Given the description of an element on the screen output the (x, y) to click on. 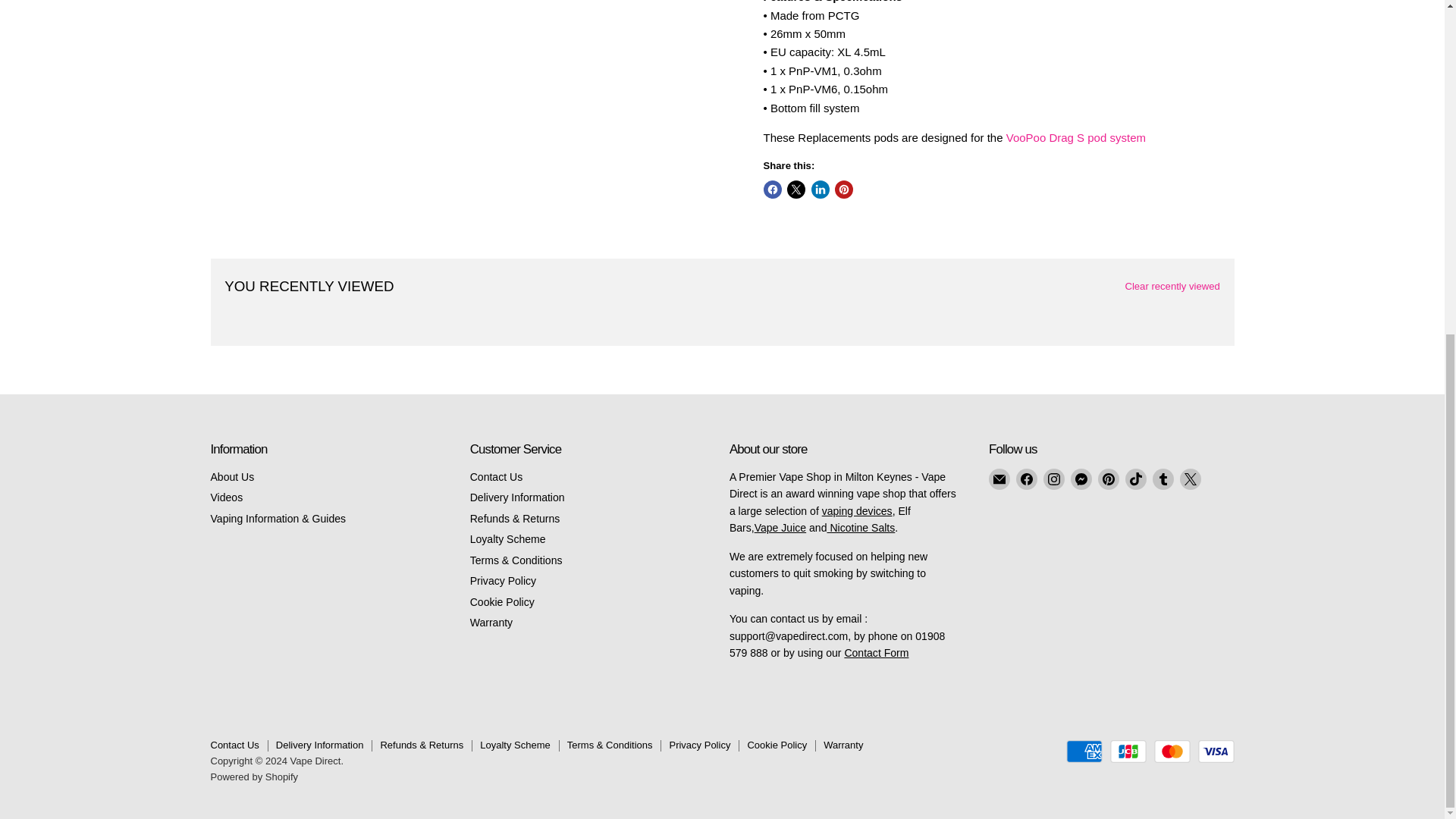
X (1190, 478)
Messenger (1081, 478)
Email (999, 478)
Instagram (1053, 478)
Vape Juice (780, 527)
American Express (1083, 751)
TikTok (1136, 478)
Facebook (1026, 478)
JCB (1128, 751)
Contact Us New (876, 653)
